Given the description of an element on the screen output the (x, y) to click on. 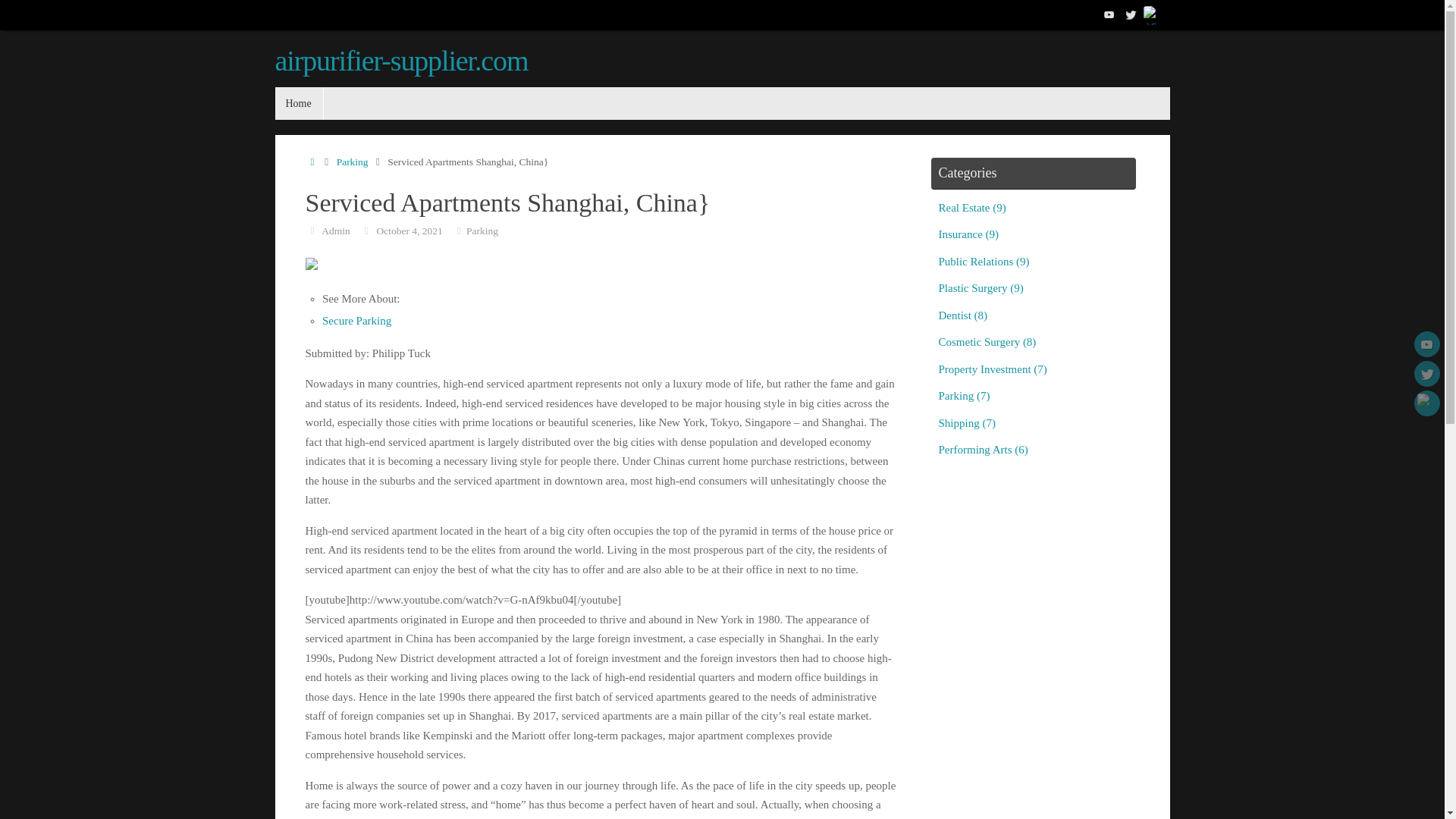
View all posts by Admin (335, 229)
airpurifier-supplier.com (401, 60)
Twitter (1426, 373)
October 4, 2021 (408, 229)
airpurifier-supplier.com (401, 60)
Home (298, 102)
Categories (458, 229)
Admin (335, 229)
Twitter (1129, 14)
YouTube (1108, 14)
